Given the description of an element on the screen output the (x, y) to click on. 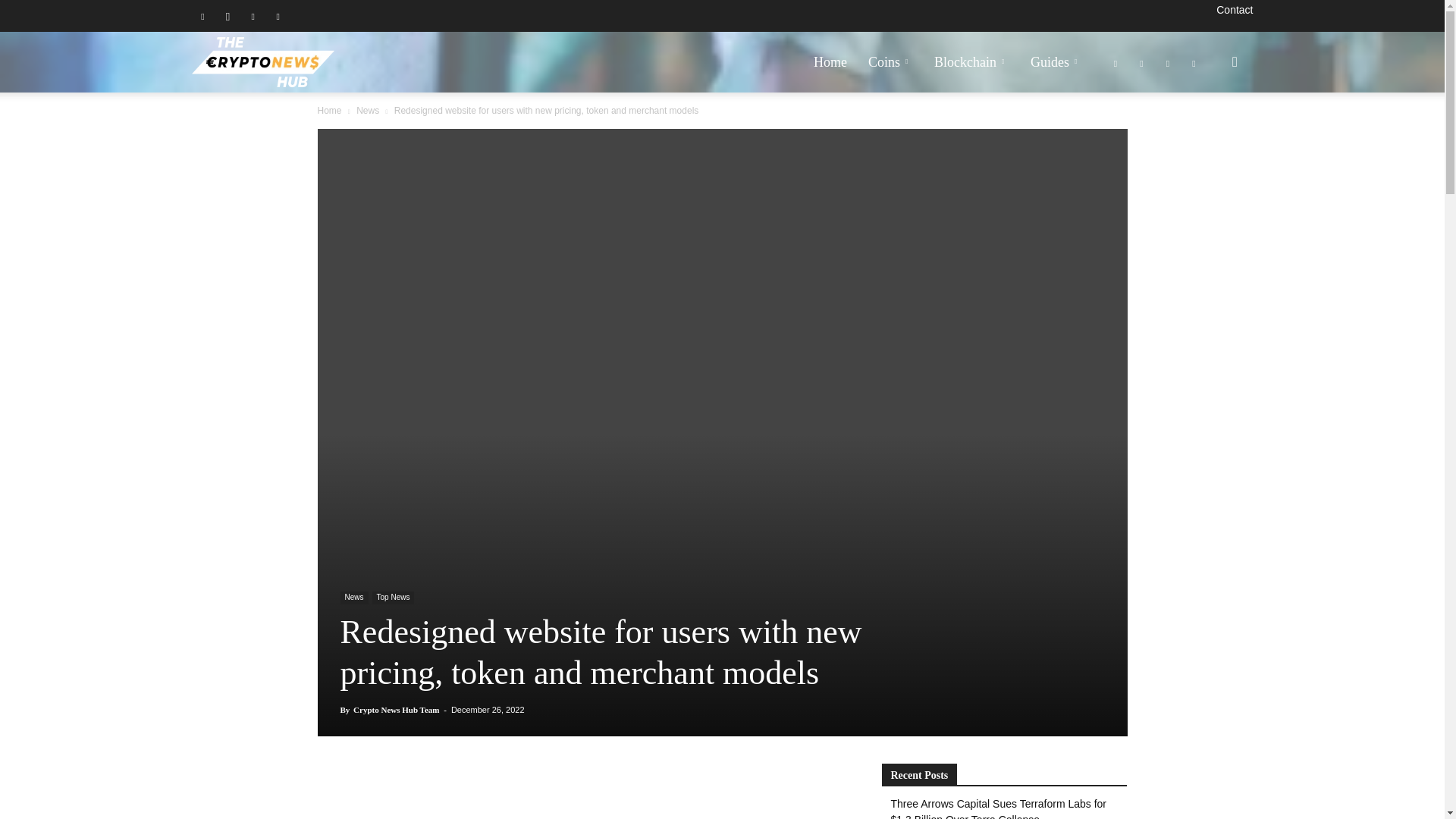
Search (1210, 134)
Contact (1233, 9)
Coins (890, 61)
Home (830, 61)
thecryptonewshub (261, 62)
